Given the description of an element on the screen output the (x, y) to click on. 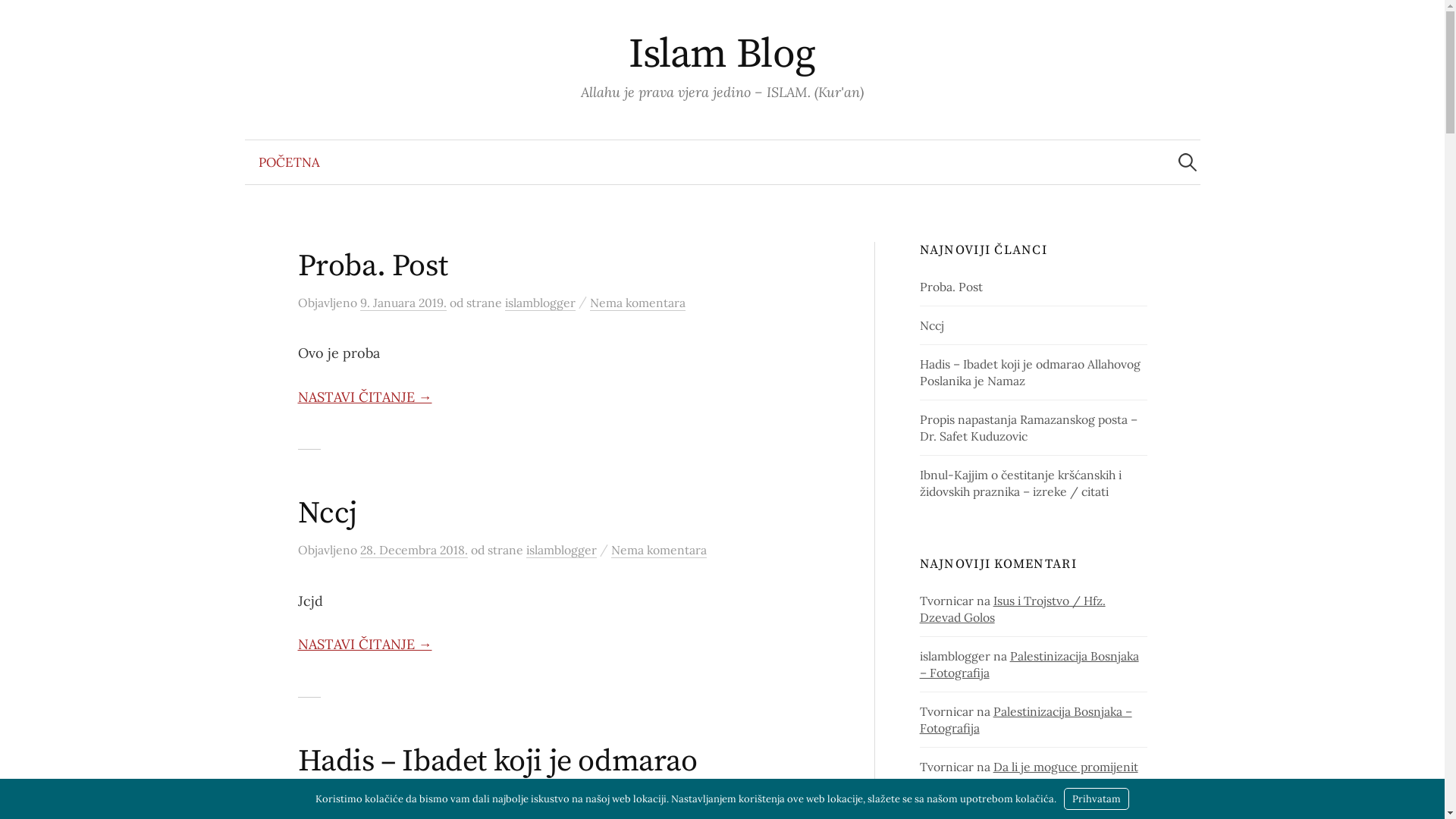
9. Januara 2019. Element type: text (402, 302)
Isus i Trojstvo / Hfz. Dzevad Golos Element type: text (1012, 608)
islamblogger Element type: text (561, 550)
Nema komentara
na Nccj Element type: text (658, 550)
Islam Blog Element type: text (721, 54)
Nema komentara
na Proba. Post Element type: text (637, 302)
Nccj Element type: text (326, 513)
Nccj Element type: text (931, 324)
Pretraga Element type: text (18, 18)
islamblogger Element type: text (540, 302)
Proba. Post Element type: text (372, 266)
Proba. Post Element type: text (950, 286)
Prihvatam Element type: text (1096, 798)
28. Decembra 2018. Element type: text (413, 550)
